Given the description of an element on the screen output the (x, y) to click on. 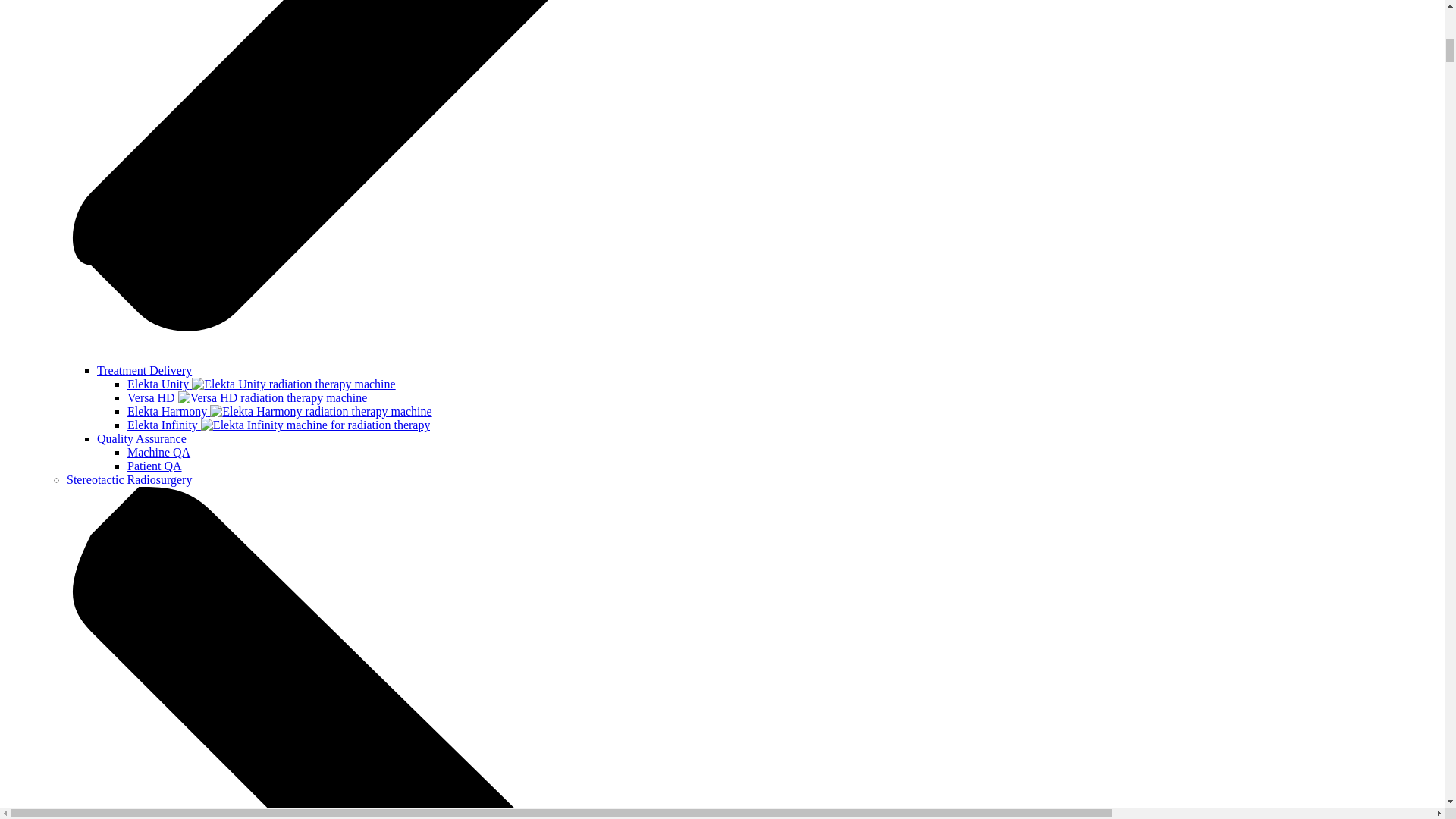
Patient QA (155, 465)
Quality Assurance (141, 438)
Elekta Harmony (280, 410)
Machine QA (159, 451)
Versa HD (247, 397)
Treatment Delivery (144, 369)
Elekta Unity (262, 383)
Elekta Infinity (278, 424)
